Given the description of an element on the screen output the (x, y) to click on. 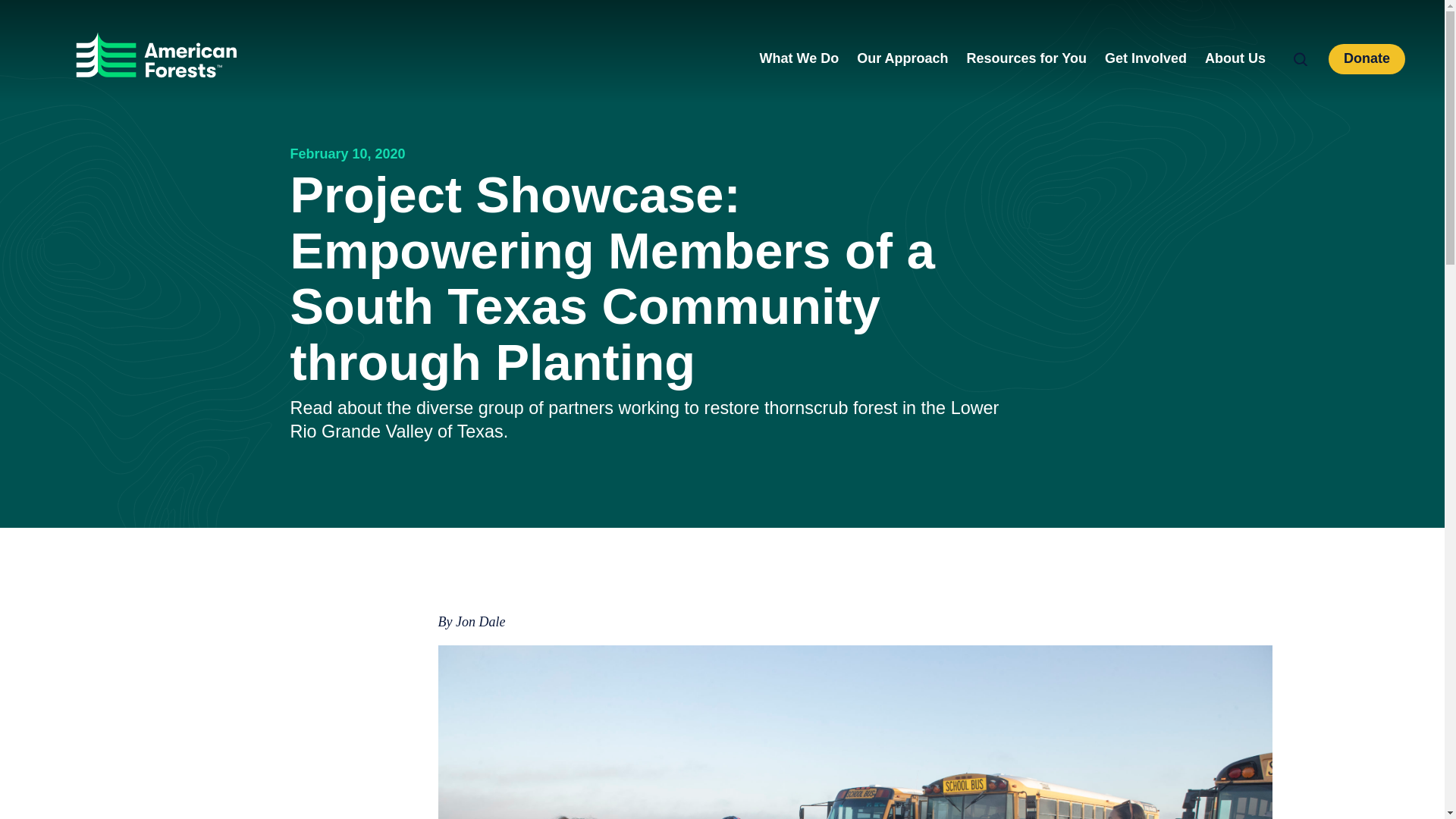
Our Approach (902, 58)
Resources for You (1026, 58)
What We Do (800, 58)
